Given the description of an element on the screen output the (x, y) to click on. 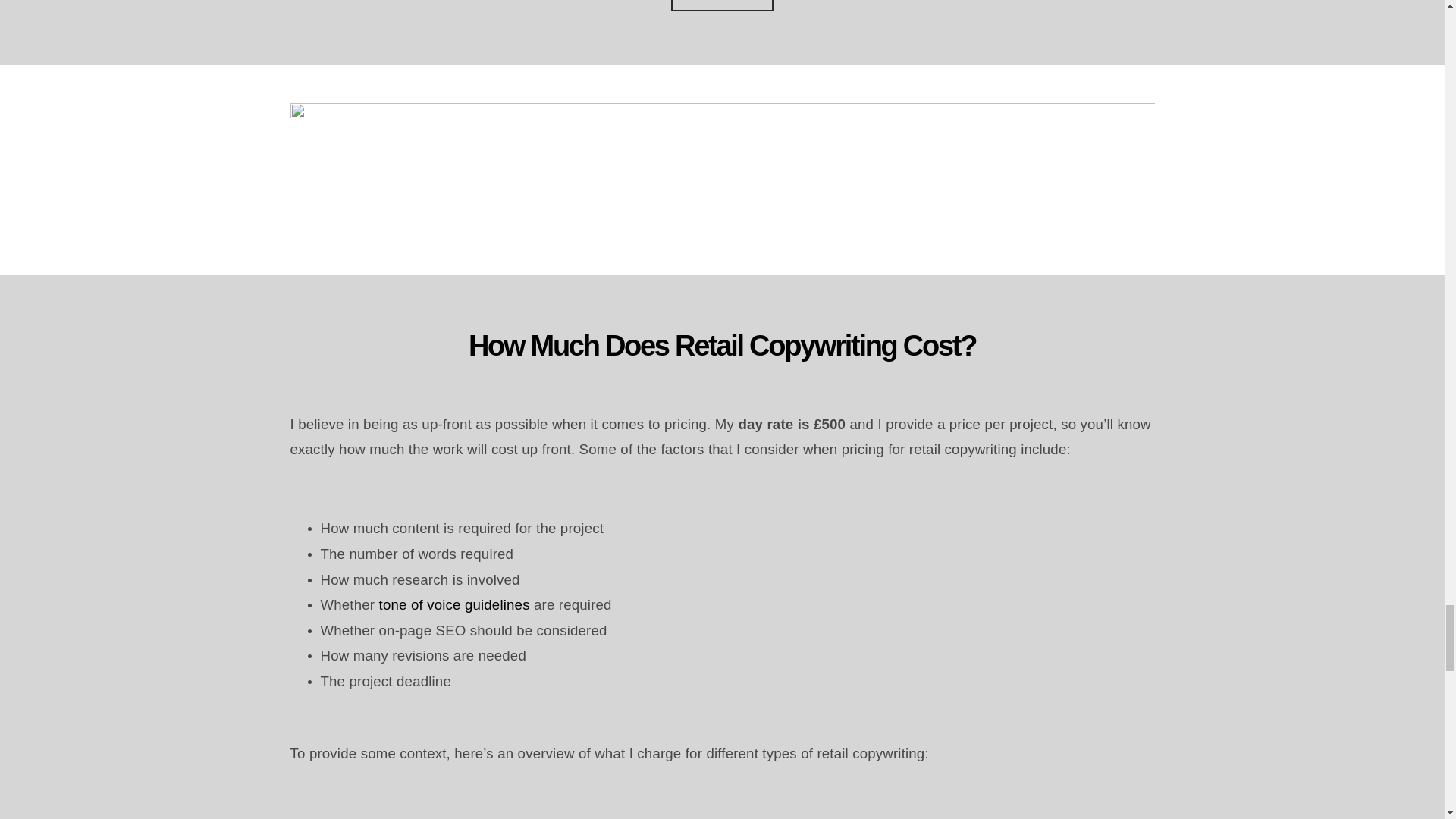
How Much Does Retail Copywriting Cost? (721, 365)
